Given the description of an element on the screen output the (x, y) to click on. 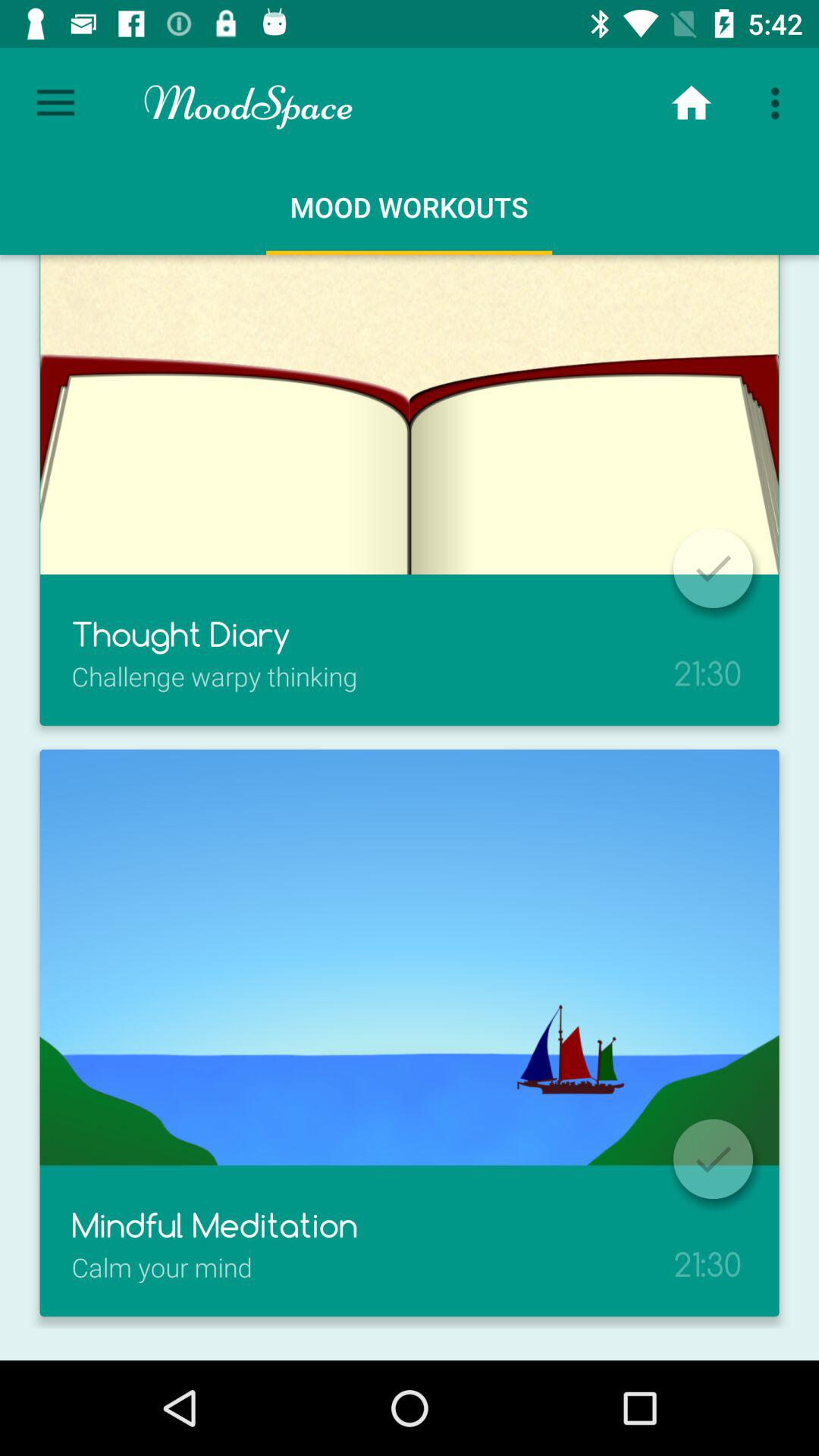
select diary (713, 568)
